Given the description of an element on the screen output the (x, y) to click on. 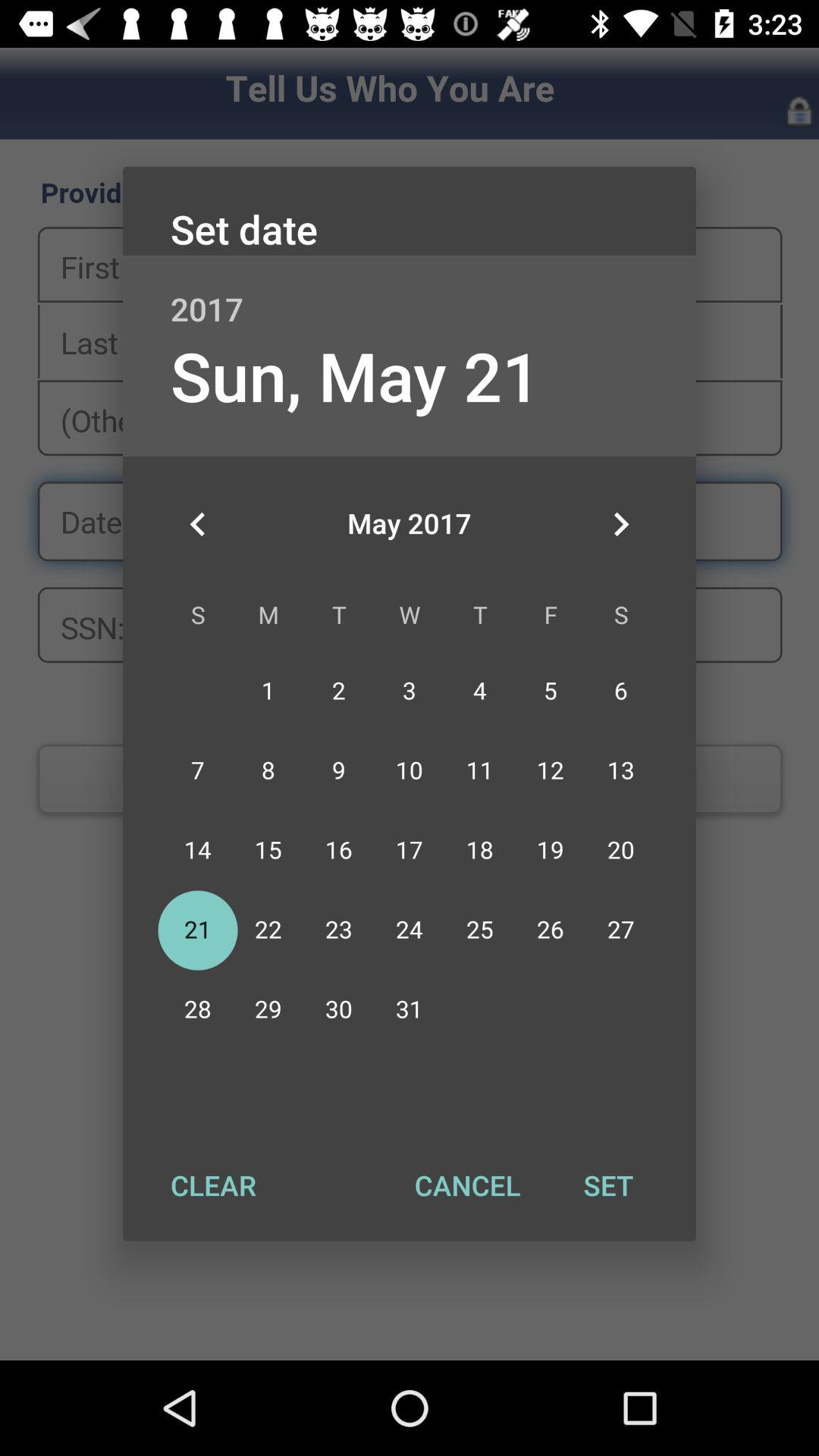
scroll to the sun, may 21 item (355, 375)
